Given the description of an element on the screen output the (x, y) to click on. 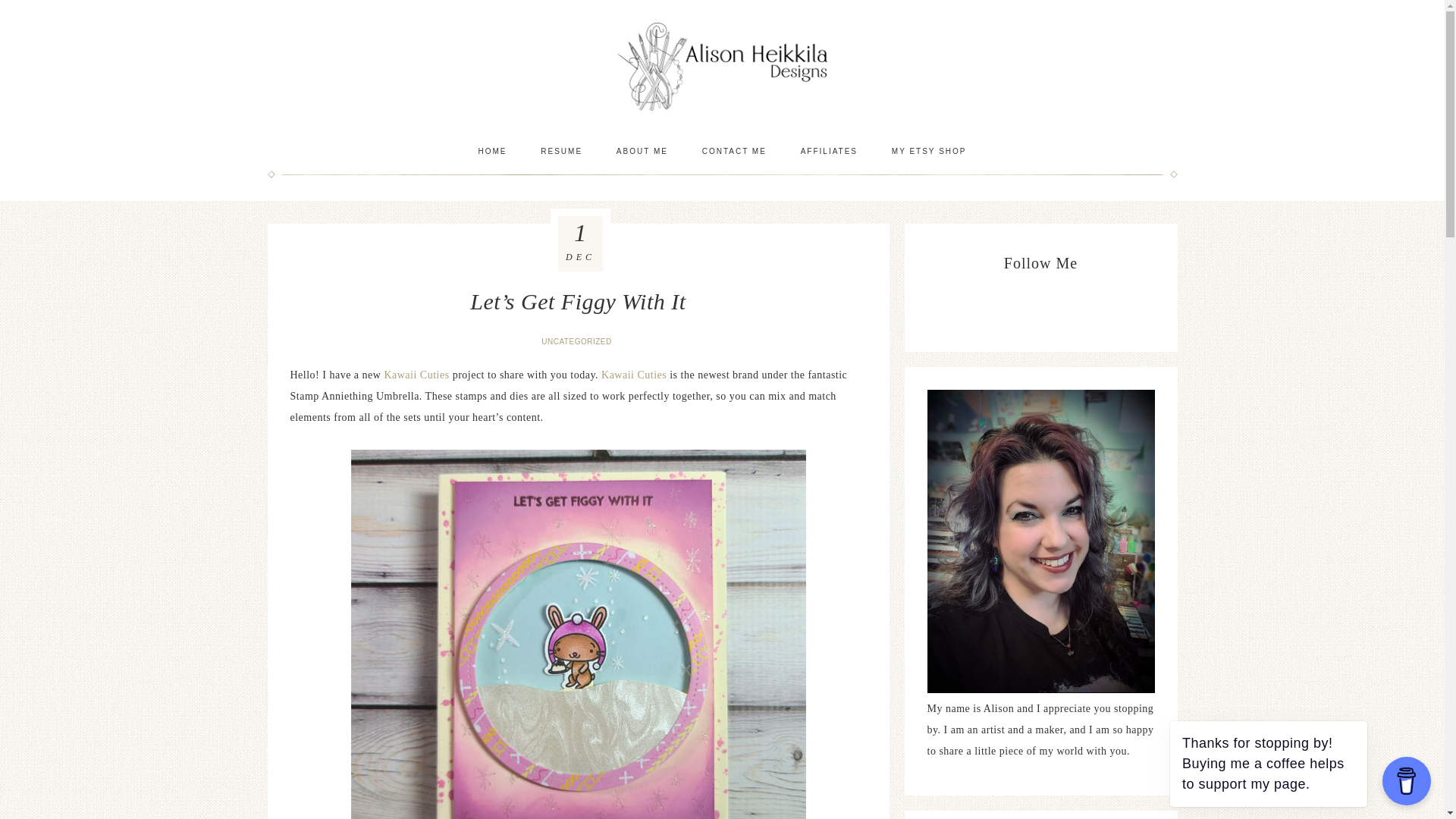
Kawaii Cuties (633, 374)
CONTACT ME (734, 151)
ALISON HEIKKILA DESIGNS (722, 65)
Kawaii Cuties (416, 374)
UNCATEGORIZED (577, 341)
MY ETSY SHOP (928, 151)
ABOUT ME (641, 151)
HOME (492, 151)
RESUME (560, 151)
AFFILIATES (829, 151)
